Given the description of an element on the screen output the (x, y) to click on. 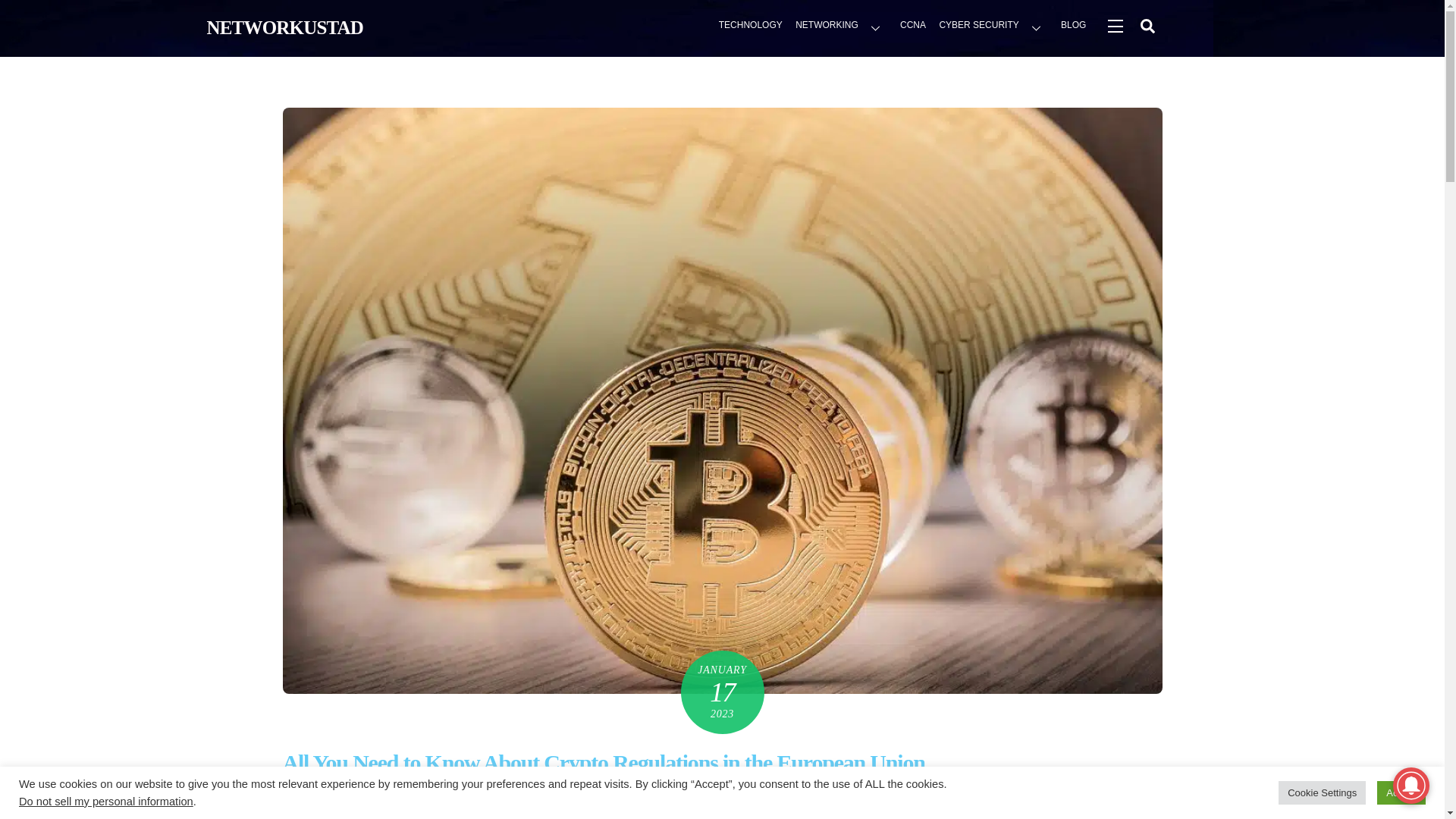
CYBER SECURITY (992, 26)
NETWORKING (841, 26)
TECHNOLOGY (750, 26)
NetworkUstad (284, 27)
YASIR ALI (309, 797)
WIDGETS (1114, 25)
NETWORKUSTAD (284, 27)
